Given the description of an element on the screen output the (x, y) to click on. 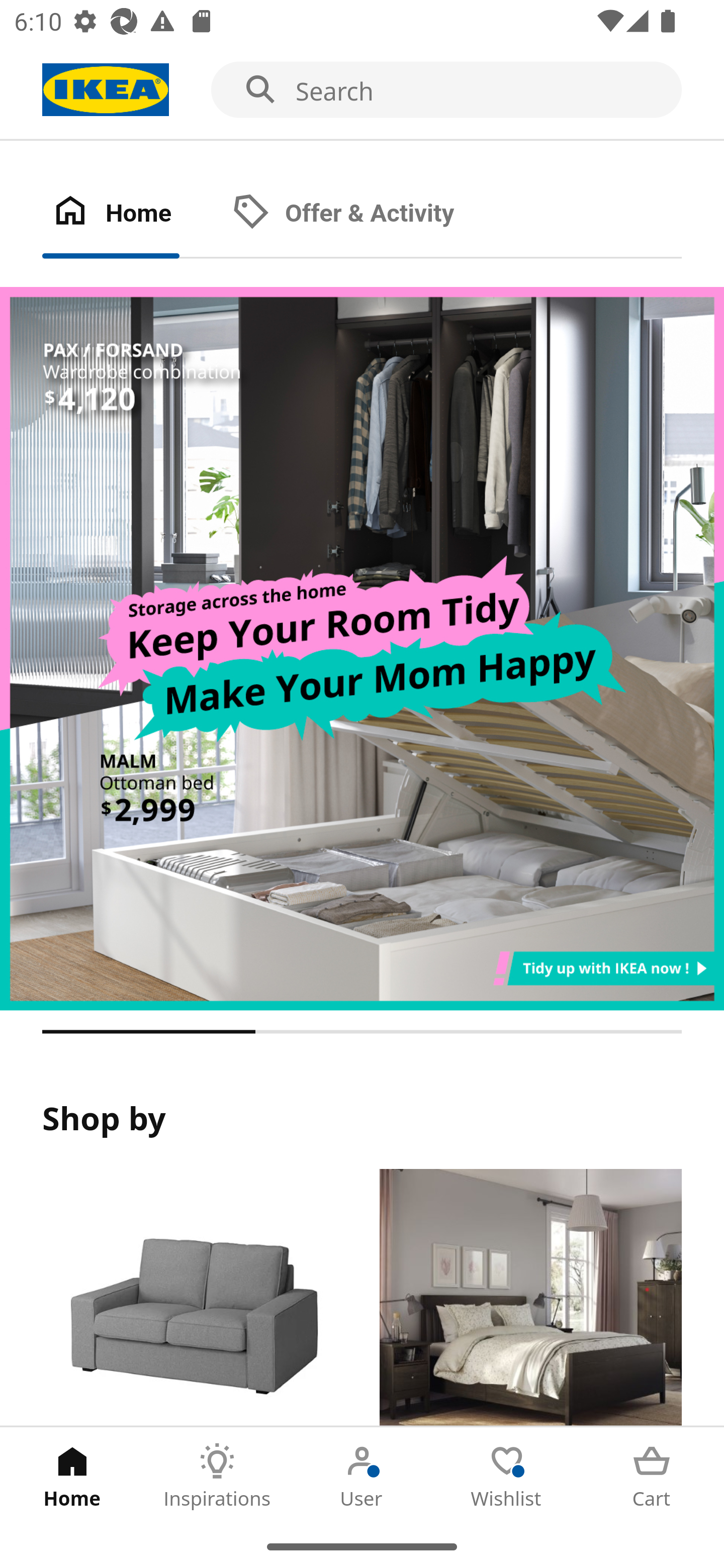
Search (361, 90)
Home
Tab 1 of 2 (131, 213)
Offer & Activity
Tab 2 of 2 (363, 213)
Products (192, 1297)
Rooms (530, 1297)
Home
Tab 1 of 5 (72, 1476)
Inspirations
Tab 2 of 5 (216, 1476)
User
Tab 3 of 5 (361, 1476)
Wishlist
Tab 4 of 5 (506, 1476)
Cart
Tab 5 of 5 (651, 1476)
